Given the description of an element on the screen output the (x, y) to click on. 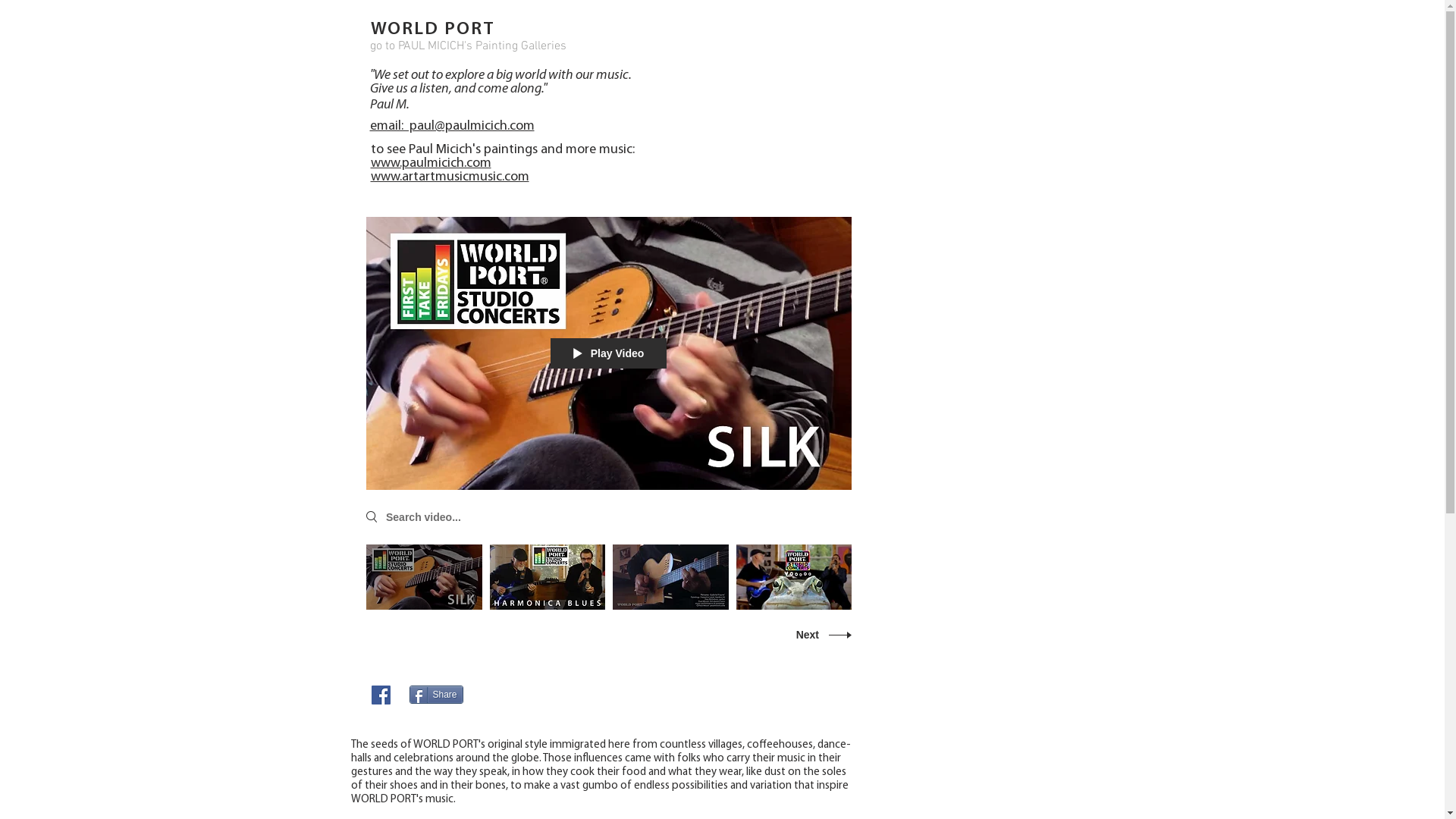
Play Video Element type: text (607, 353)
go to PAUL MICICH's Painting Galleries Element type: text (467, 46)
www.paulmicich.com Element type: text (430, 163)
WORLD PORT Element type: text (432, 29)
email:  paul@paulmicich.com Element type: text (452, 126)
Next Element type: text (817, 634)
Share Element type: text (436, 694)
www.artartmusicmusic.com Element type: text (449, 176)
